Given the description of an element on the screen output the (x, y) to click on. 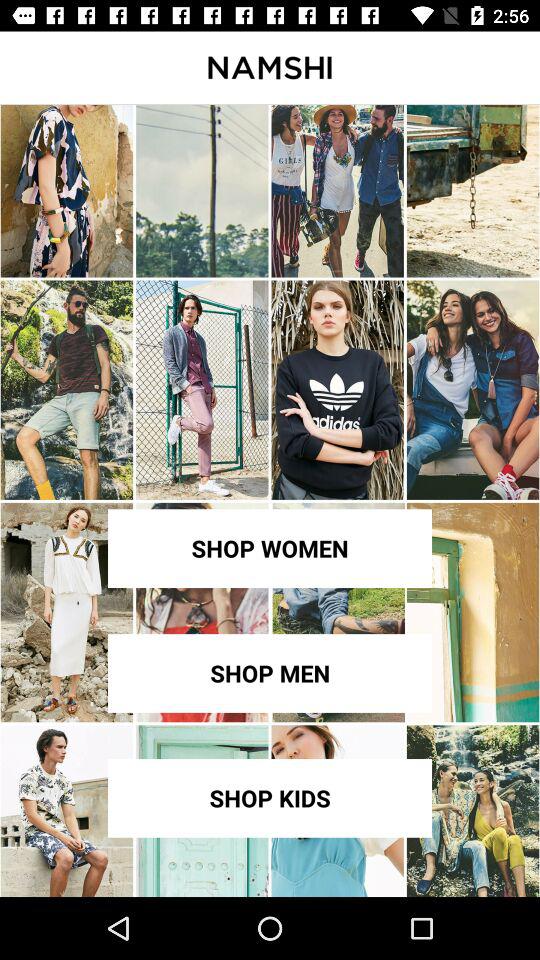
choose shop women (270, 548)
